Given the description of an element on the screen output the (x, y) to click on. 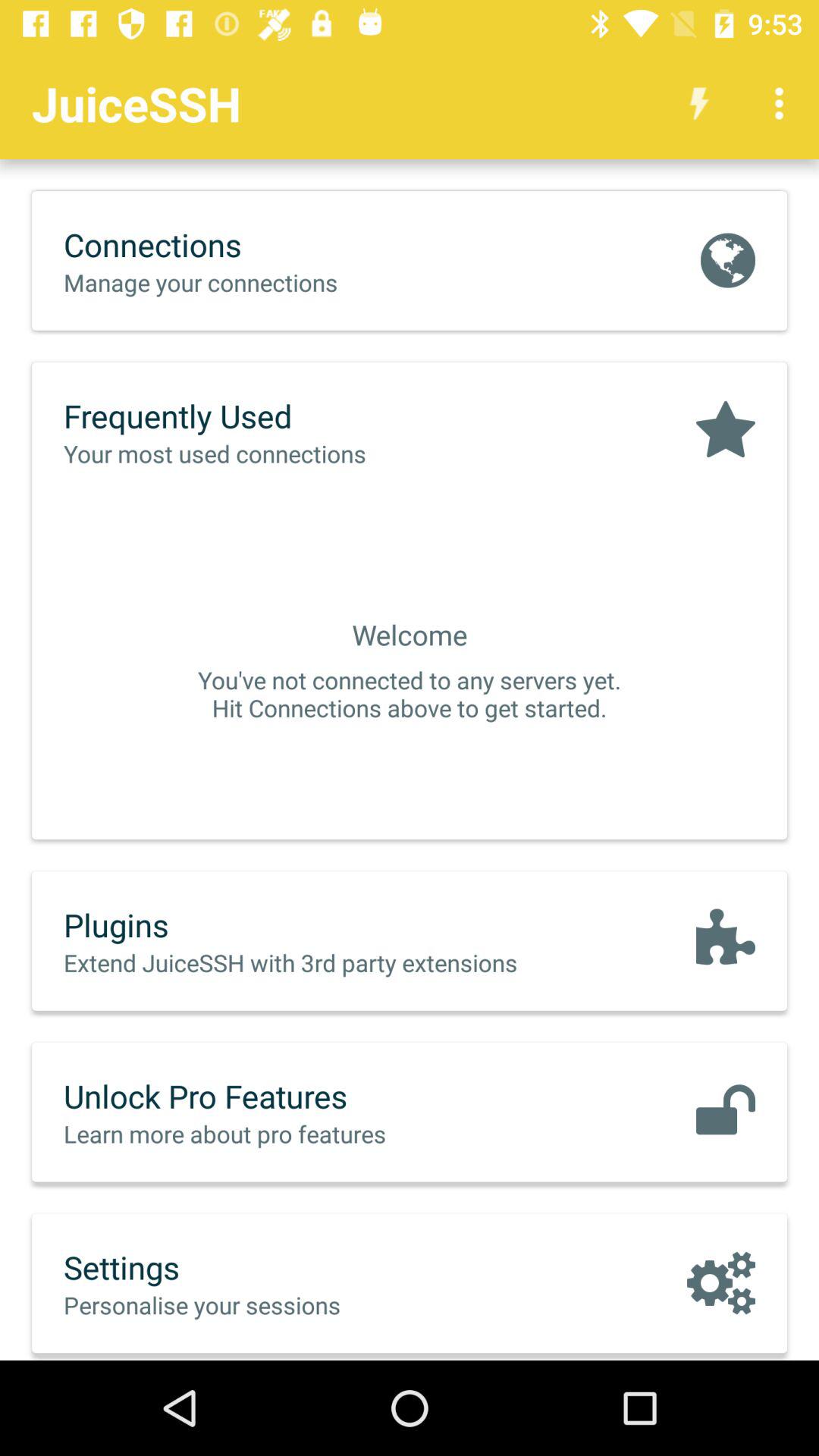
swipe to the plugins item (322, 924)
